Given the description of an element on the screen output the (x, y) to click on. 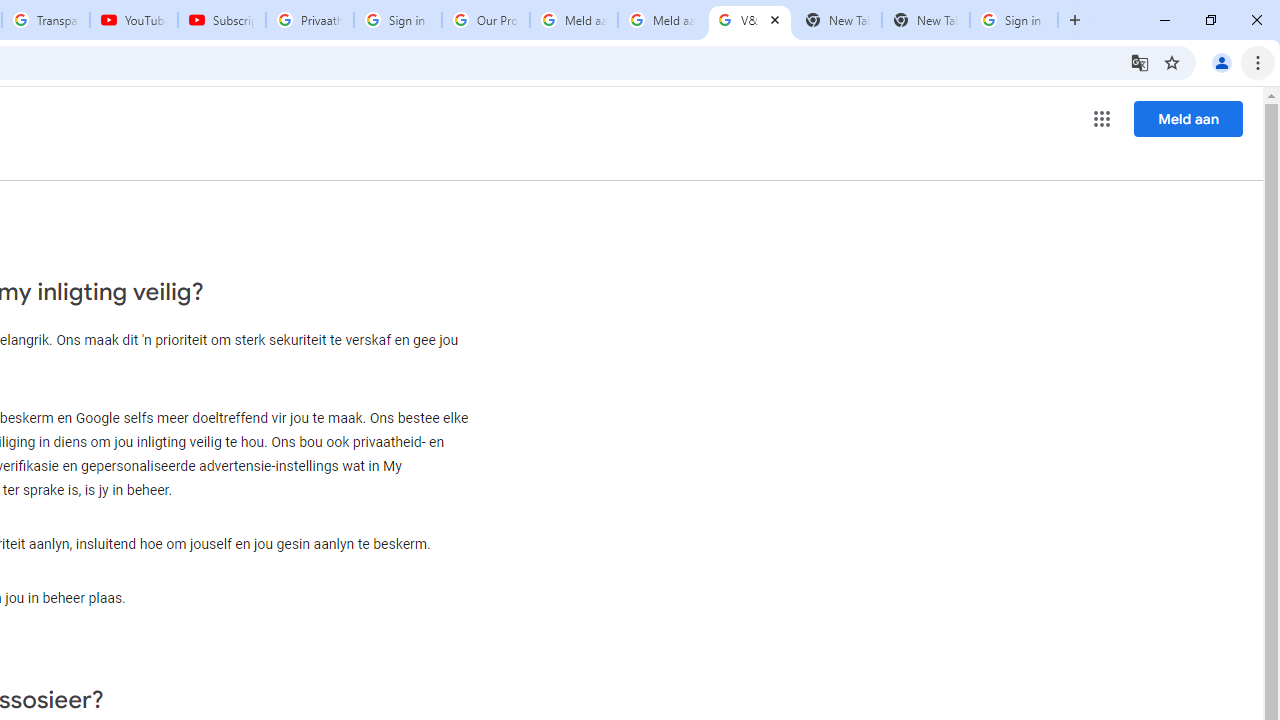
Sign in - Google Accounts (397, 20)
